Given the description of an element on the screen output the (x, y) to click on. 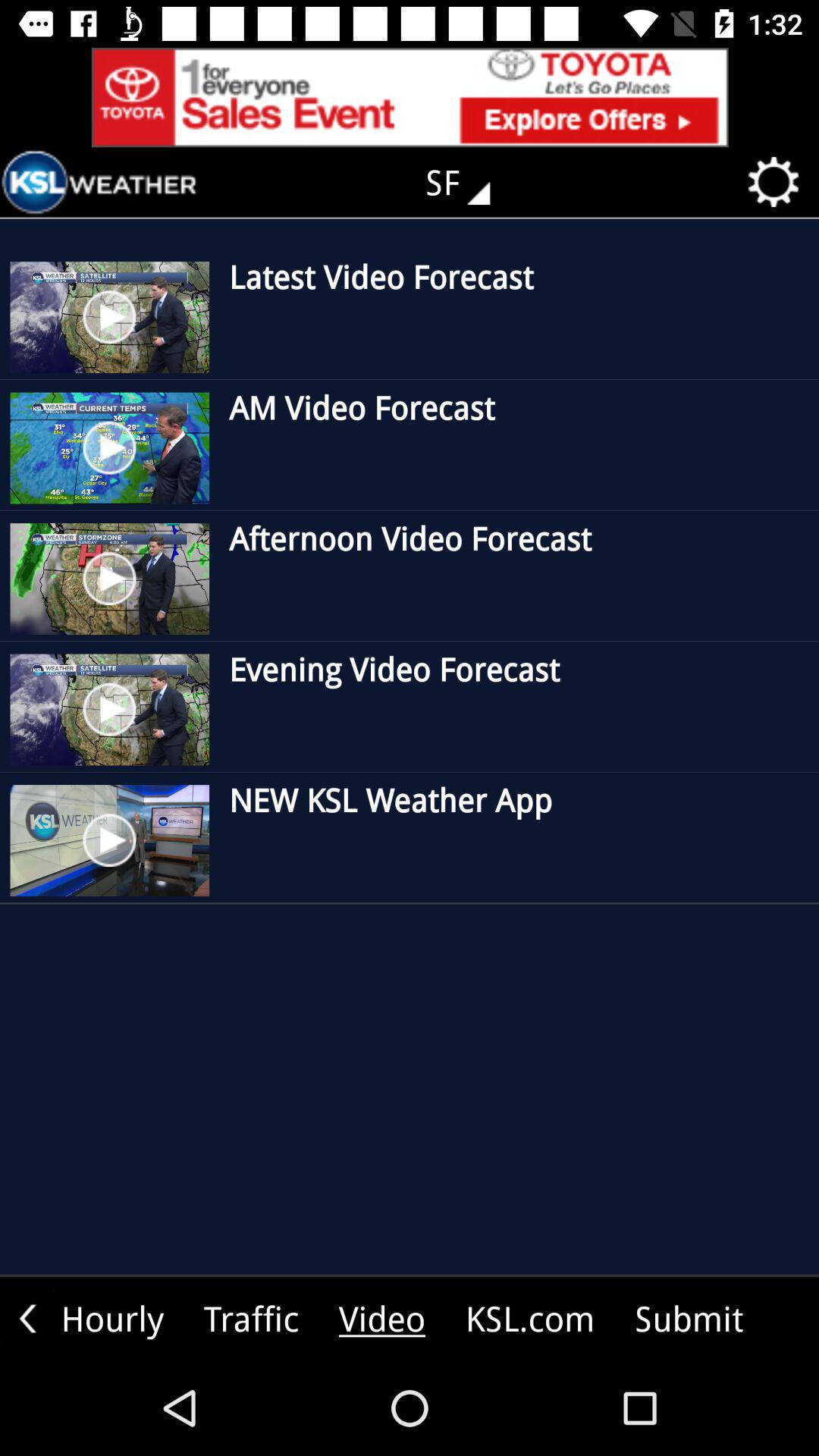
go to previous (27, 1318)
